Given the description of an element on the screen output the (x, y) to click on. 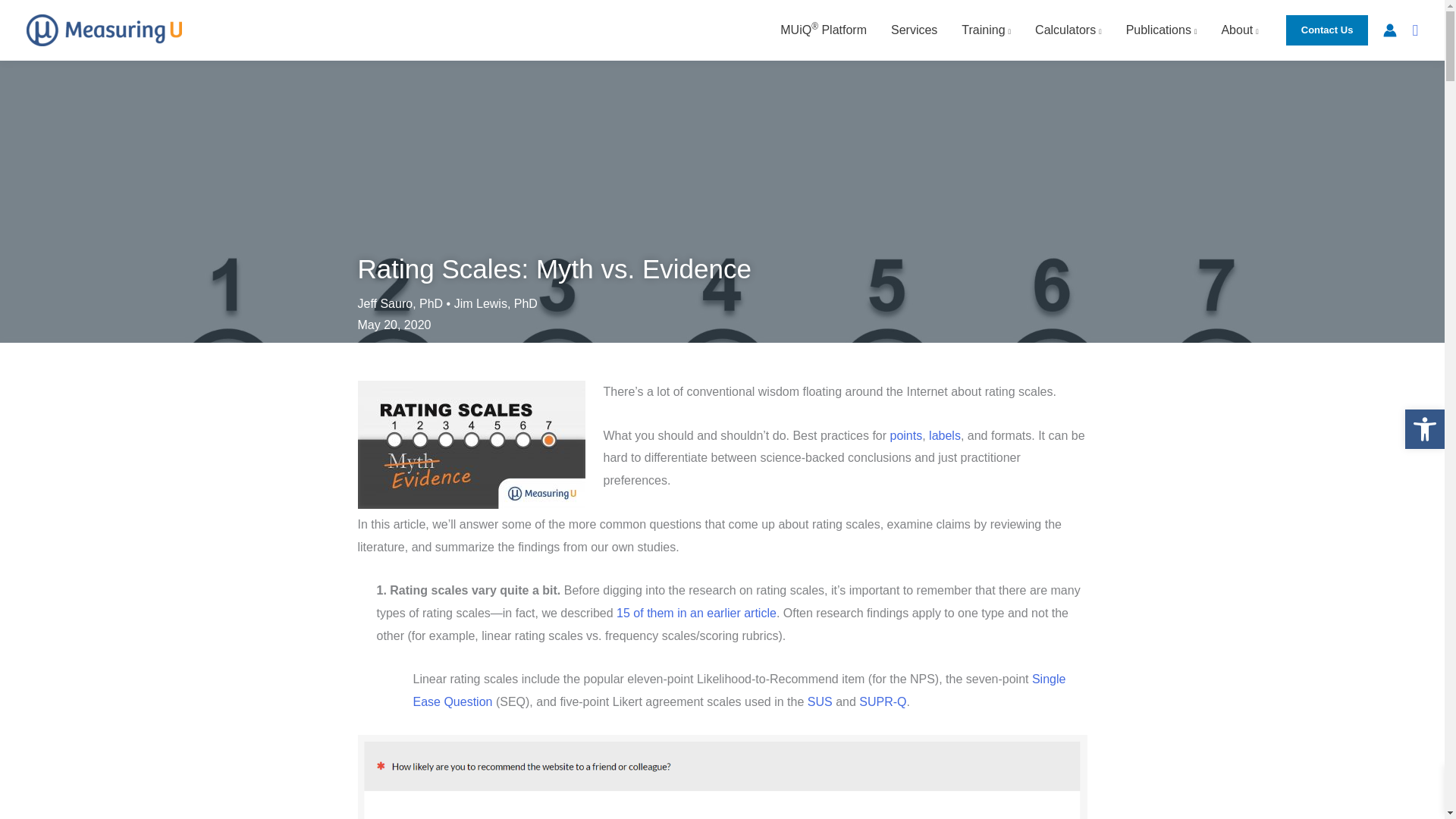
Negative Contrast (1450, 487)
Services (914, 30)
Publications (1161, 30)
Accessibility Tools (1424, 428)
Links Underline (1450, 537)
Calculators (1424, 428)
Negative Contrast (1068, 30)
Light Background (1450, 587)
Reset (1450, 511)
